Given the description of an element on the screen output the (x, y) to click on. 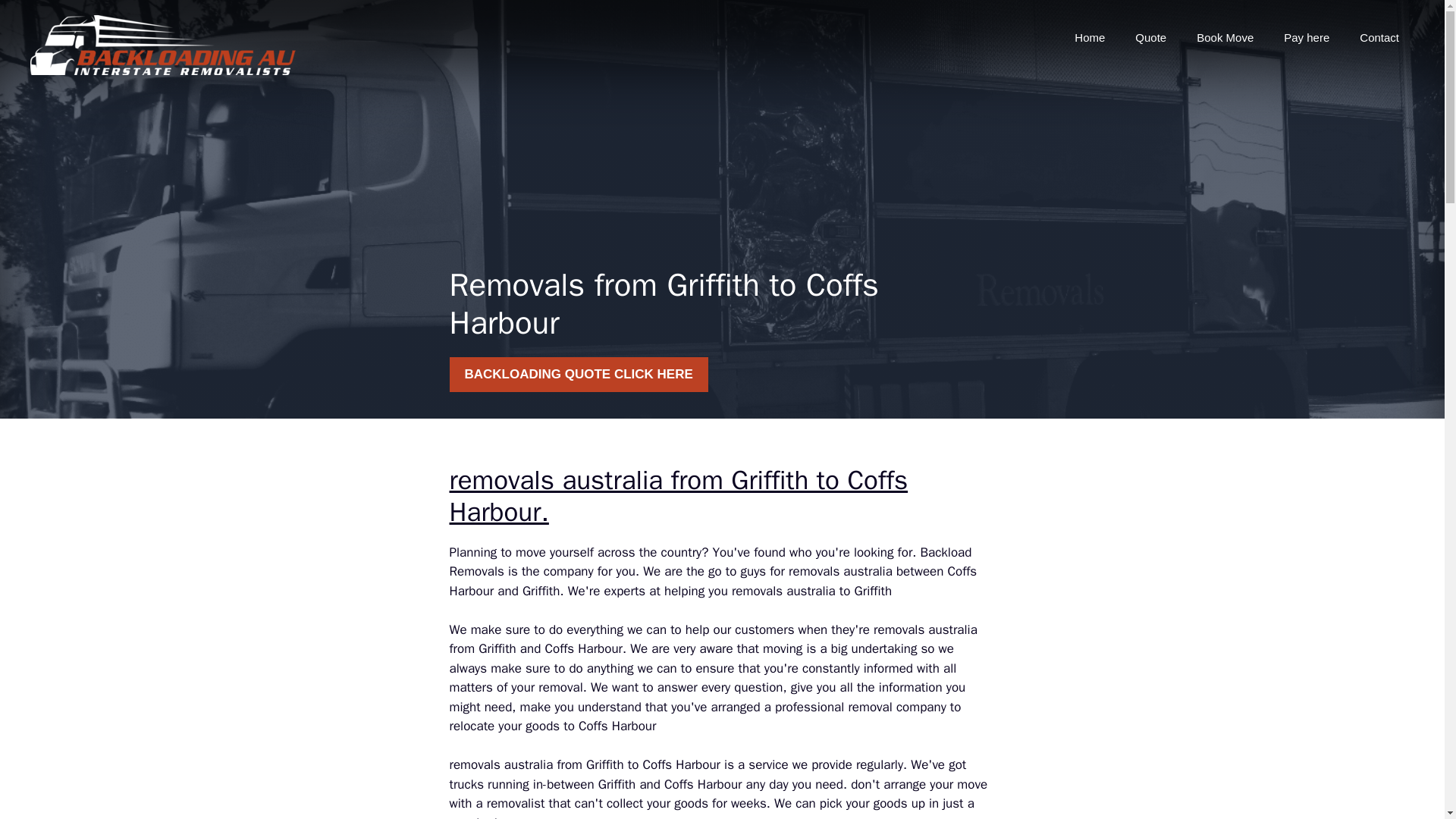
Search (42, 18)
Home (1089, 37)
Pay here (1305, 37)
BACKLOADING QUOTE CLICK HERE (577, 374)
Contact (1378, 37)
Quote (1149, 37)
Book Move (1224, 37)
